Given the description of an element on the screen output the (x, y) to click on. 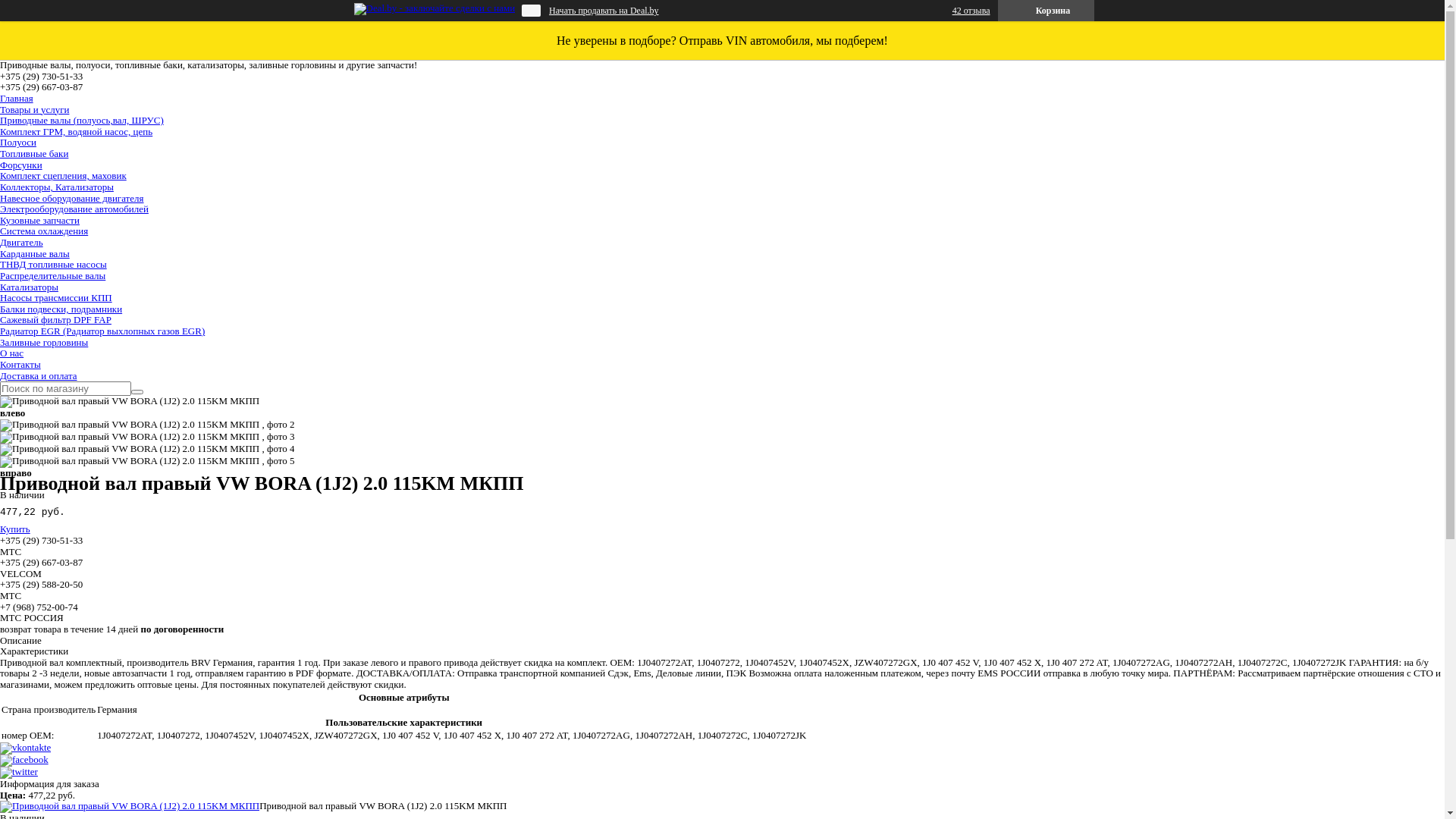
twitter Element type: hover (18, 771)
facebook Element type: hover (24, 759)
